Given the description of an element on the screen output the (x, y) to click on. 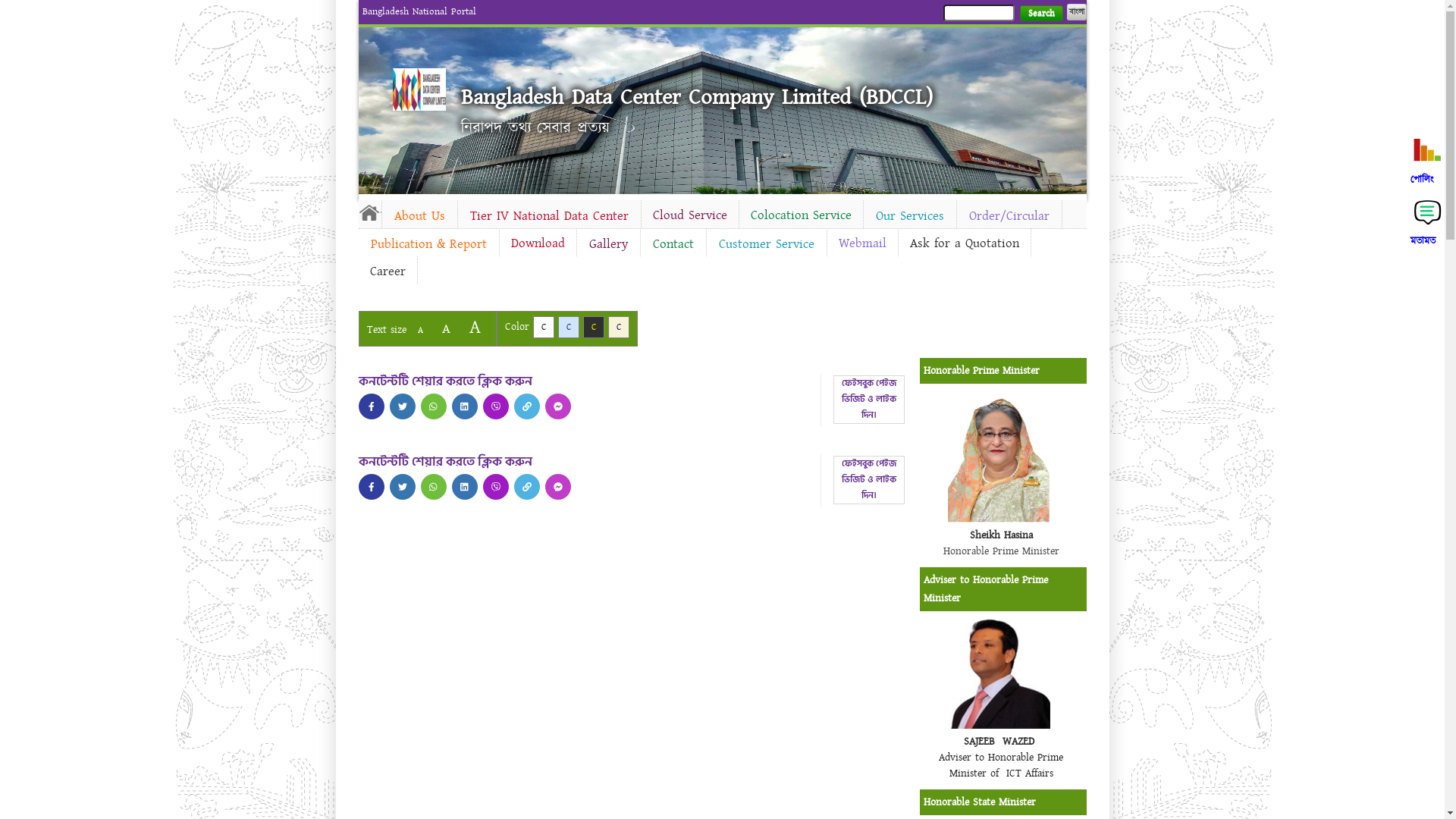
C Element type: text (542, 327)
Order/Circular Element type: text (1009, 216)
Contact Element type: text (672, 244)
Publication & Report Element type: text (427, 244)
Search Element type: text (1040, 13)
Home Element type: hover (418, 89)
C Element type: text (568, 327)
Career Element type: text (386, 271)
C Element type: text (618, 327)
Gallery Element type: text (607, 244)
A Element type: text (445, 328)
Bangladesh Data Center Company Limited (BDCCL) Element type: text (696, 96)
Customer Service Element type: text (766, 244)
Colocation Service Element type: text (800, 215)
A Element type: text (474, 327)
Download Element type: text (536, 243)
Our Services Element type: text (908, 216)
Ask for a Quotation Element type: text (963, 243)
Home Element type: hover (368, 211)
Cloud Service Element type: text (689, 215)
Tier IV National Data Center Element type: text (549, 216)
A Element type: text (419, 330)
About Us Element type: text (419, 216)
Webmail Element type: text (861, 243)
Bangladesh National Portal Element type: text (419, 11)
C Element type: text (592, 327)
